Given the description of an element on the screen output the (x, y) to click on. 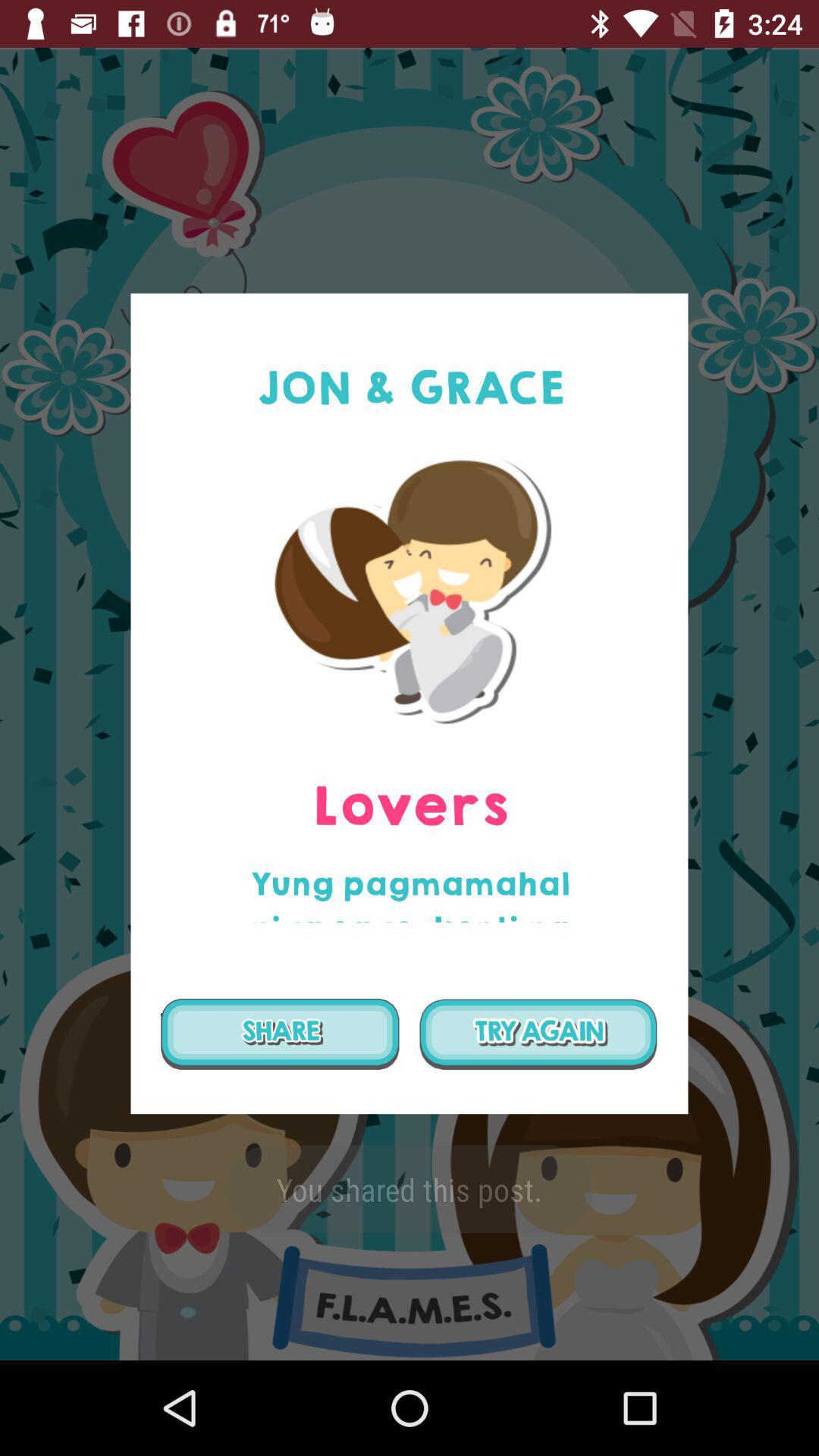
try again (538, 1034)
